Given the description of an element on the screen output the (x, y) to click on. 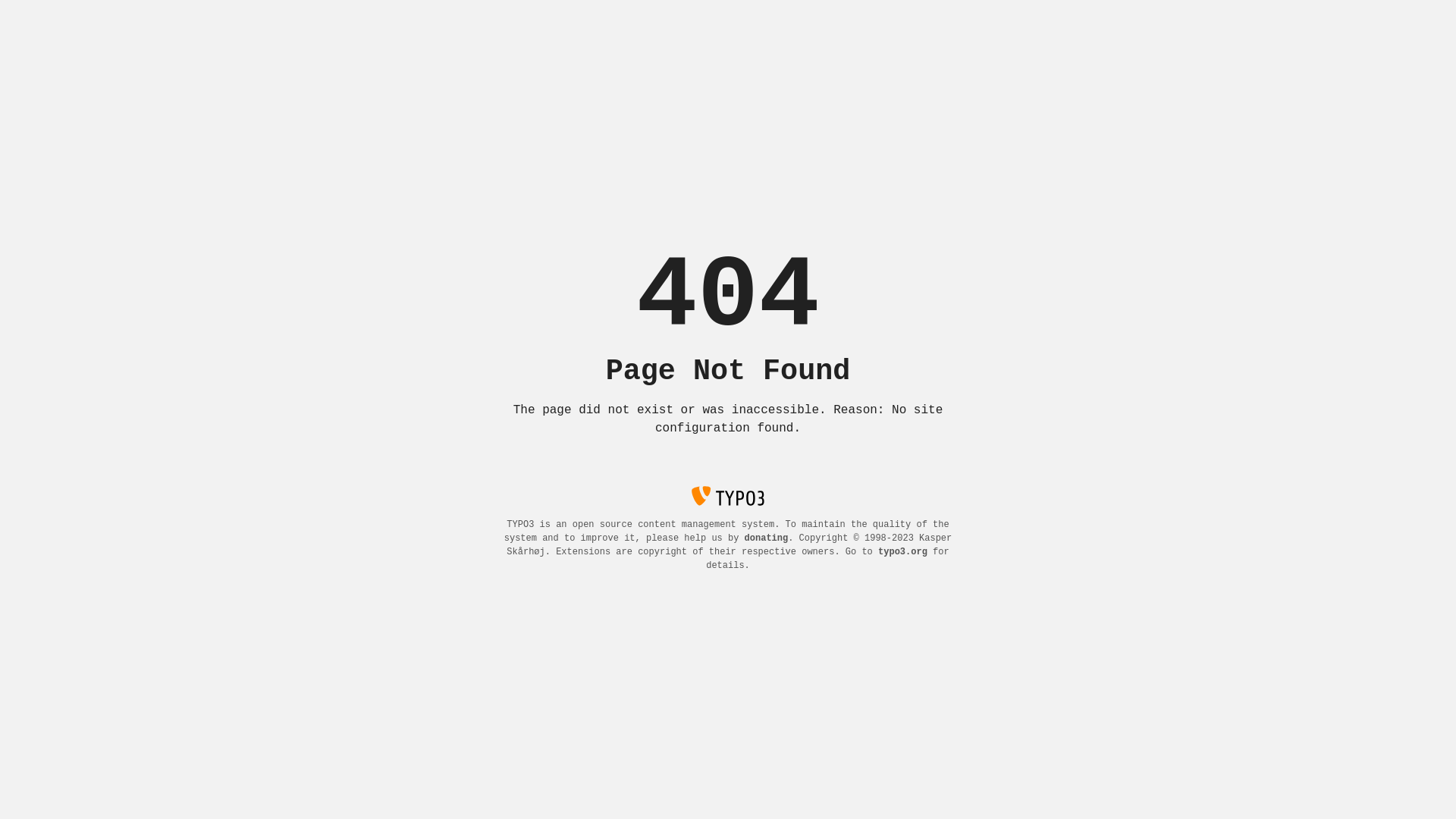
typo3.org Element type: text (902, 551)
donating Element type: text (766, 538)
